Given the description of an element on the screen output the (x, y) to click on. 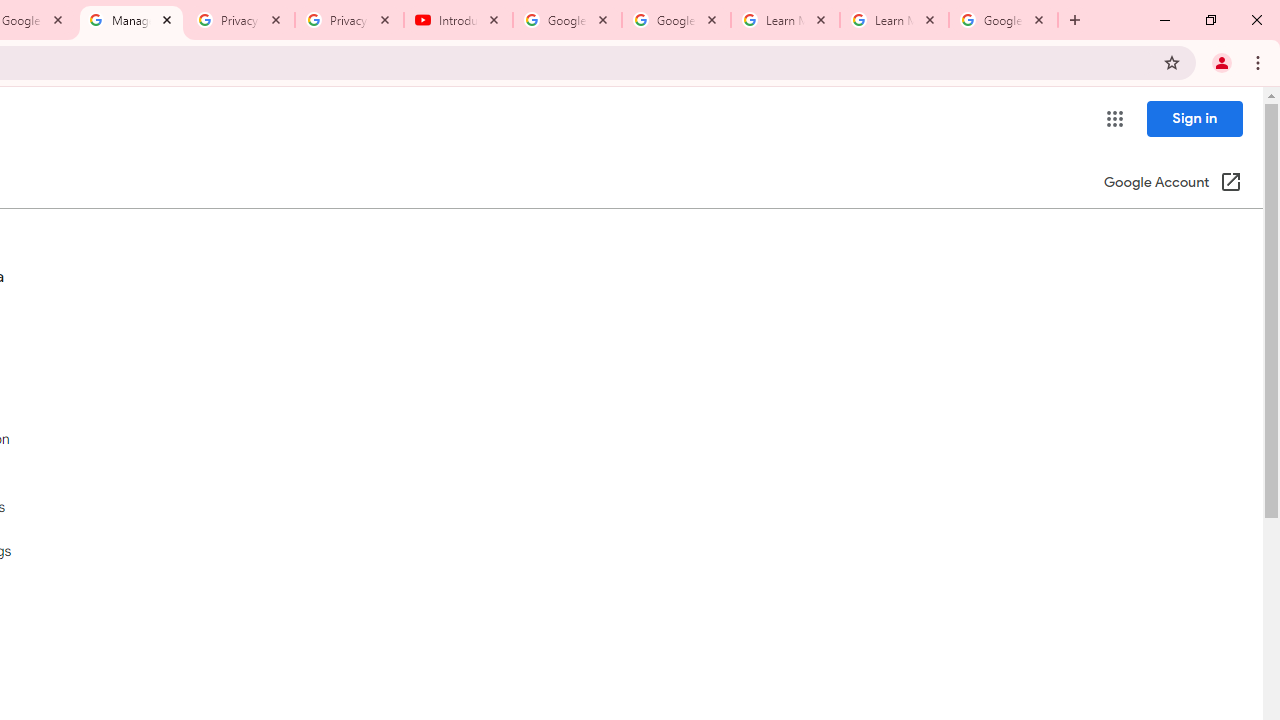
Introduction | Google Privacy Policy - YouTube (458, 20)
Google Account (1003, 20)
Google Account Help (676, 20)
